Given the description of an element on the screen output the (x, y) to click on. 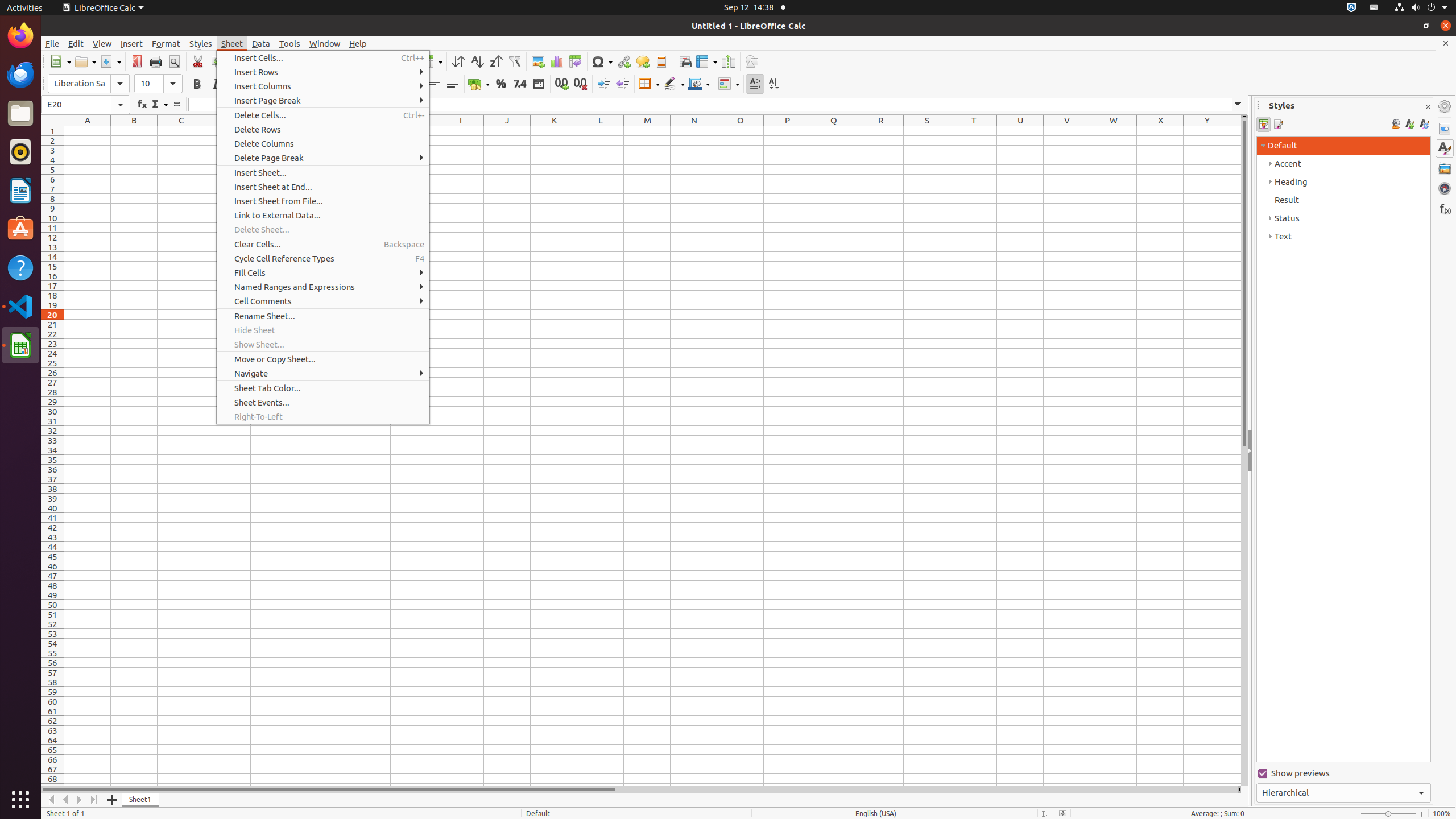
A1 Element type: table-cell (87, 130)
Fill Cells Element type: menu (322, 272)
PDF Element type: push-button (136, 61)
Conditional Element type: push-button (728, 83)
Text direction from left to right Element type: toggle-button (754, 83)
